Given the description of an element on the screen output the (x, y) to click on. 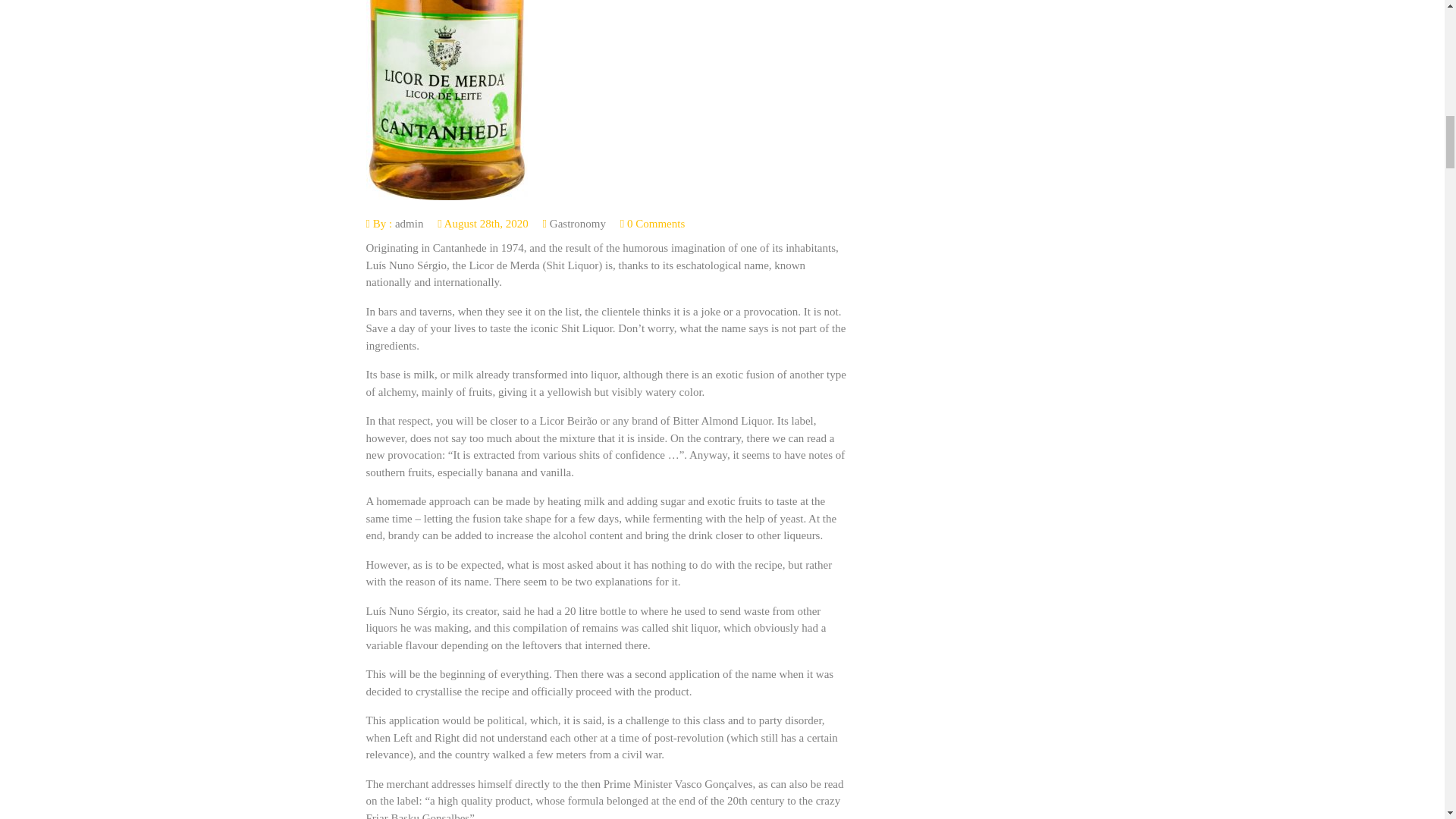
admin (408, 223)
Posts by admin (408, 223)
Gastronomy (577, 223)
